Given the description of an element on the screen output the (x, y) to click on. 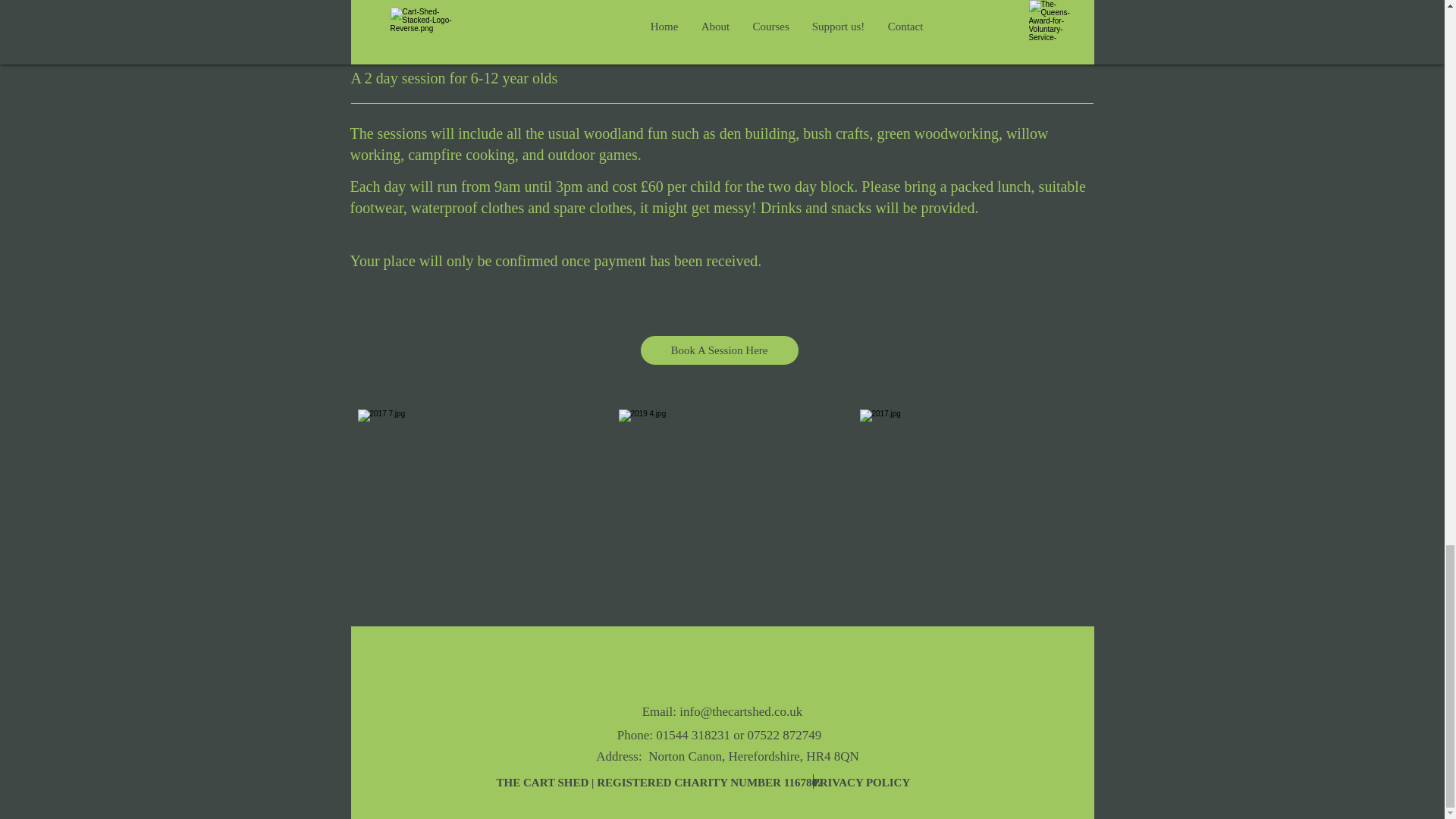
PRIVACY POLICY  (862, 781)
Book A Session Here (719, 349)
